Given the description of an element on the screen output the (x, y) to click on. 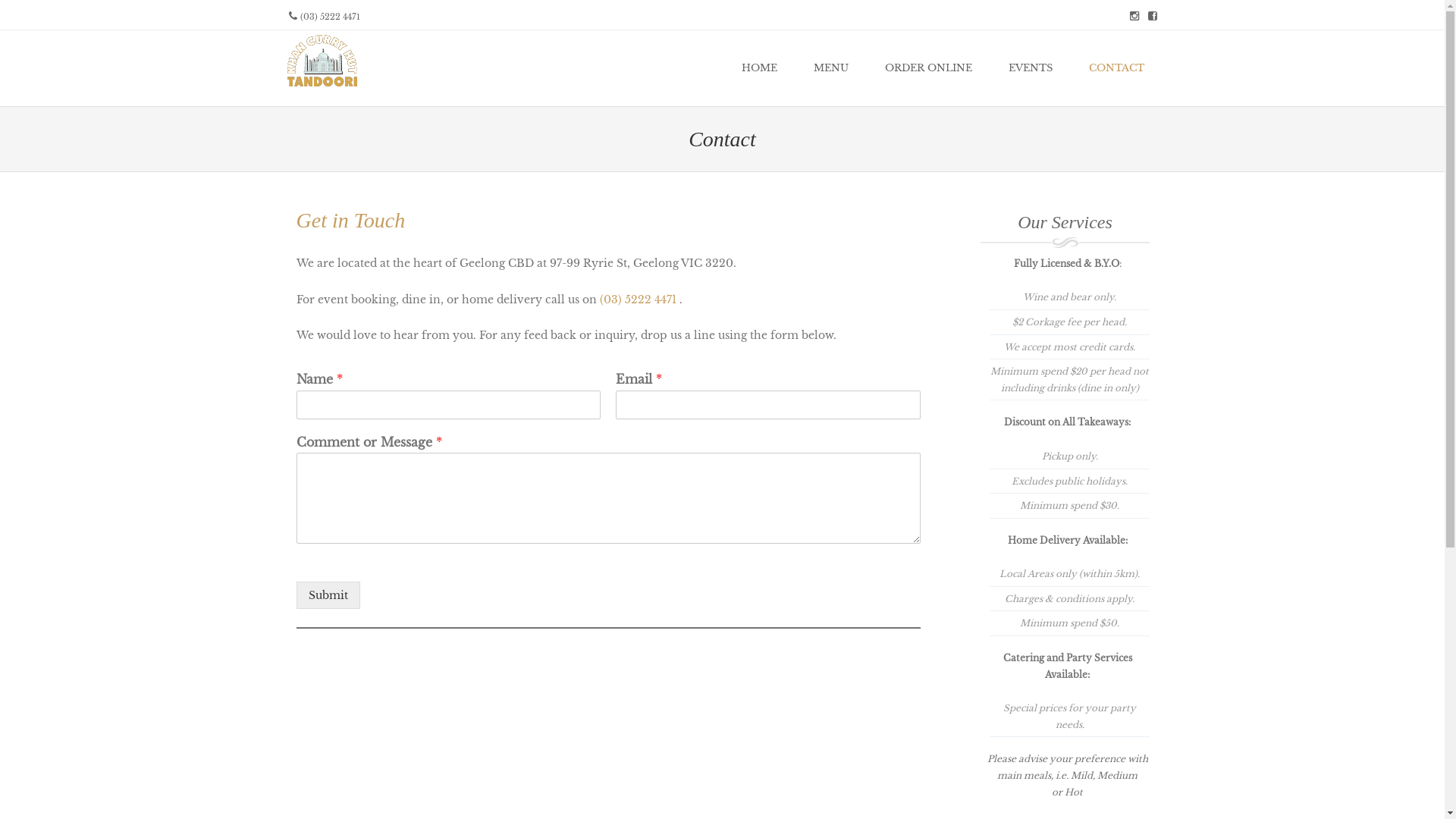
Khan Curry Hut Element type: hover (321, 87)
Submit Element type: text (327, 594)
EVENTS Element type: text (1030, 68)
SKIP TO CONTENT Element type: text (659, 68)
(03) 5222 4471 Element type: text (637, 299)
ORDER ONLINE Element type: text (927, 68)
MENU Element type: text (830, 68)
CONTACT Element type: text (1116, 68)
HOME Element type: text (759, 68)
